Given the description of an element on the screen output the (x, y) to click on. 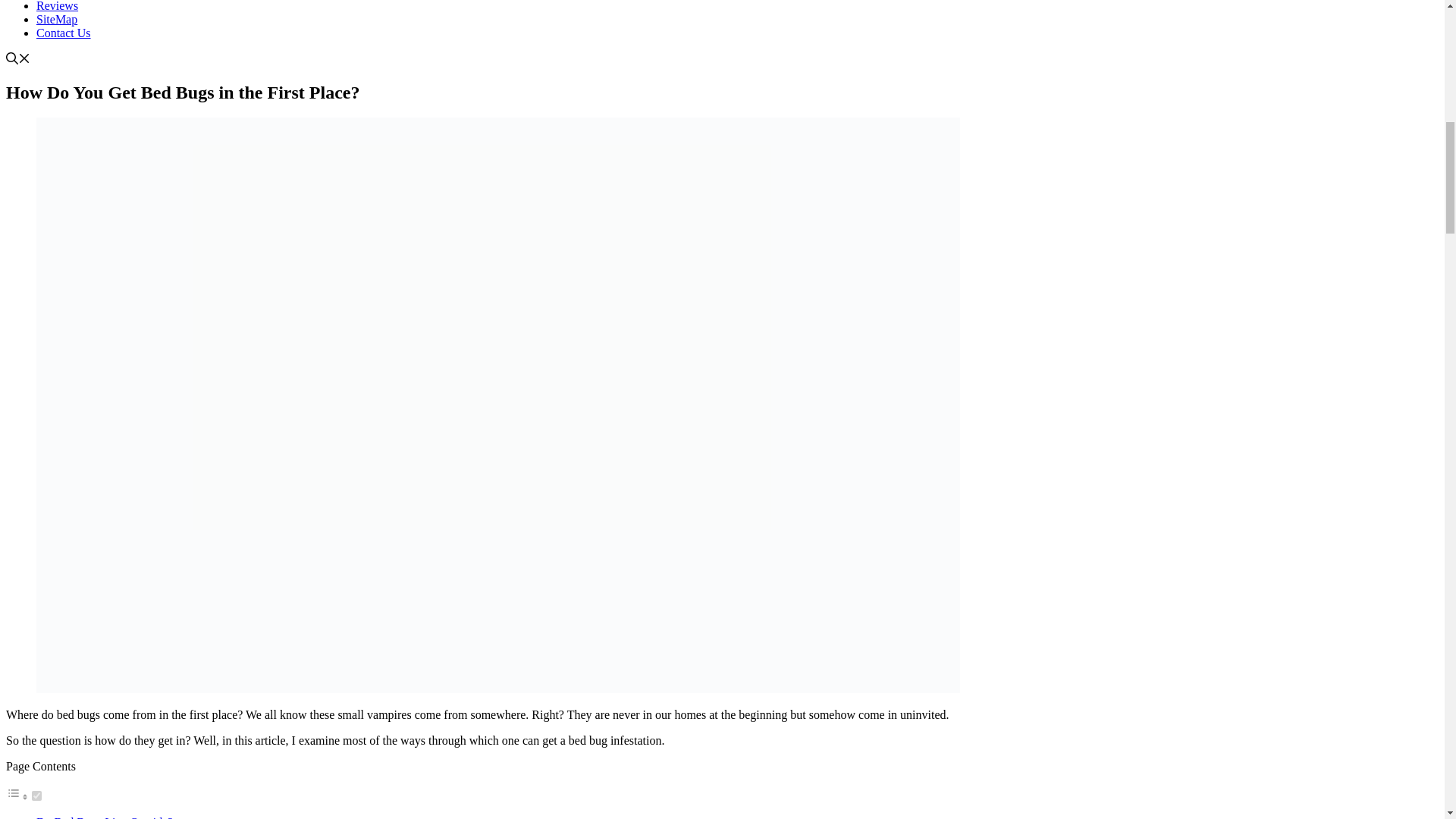
Do Bed Bugs Live Outside? (104, 817)
Do Bed Bugs Live Outside? (104, 817)
on (37, 795)
Reviews (57, 6)
SiteMap (56, 19)
Contact Us (63, 32)
